Given the description of an element on the screen output the (x, y) to click on. 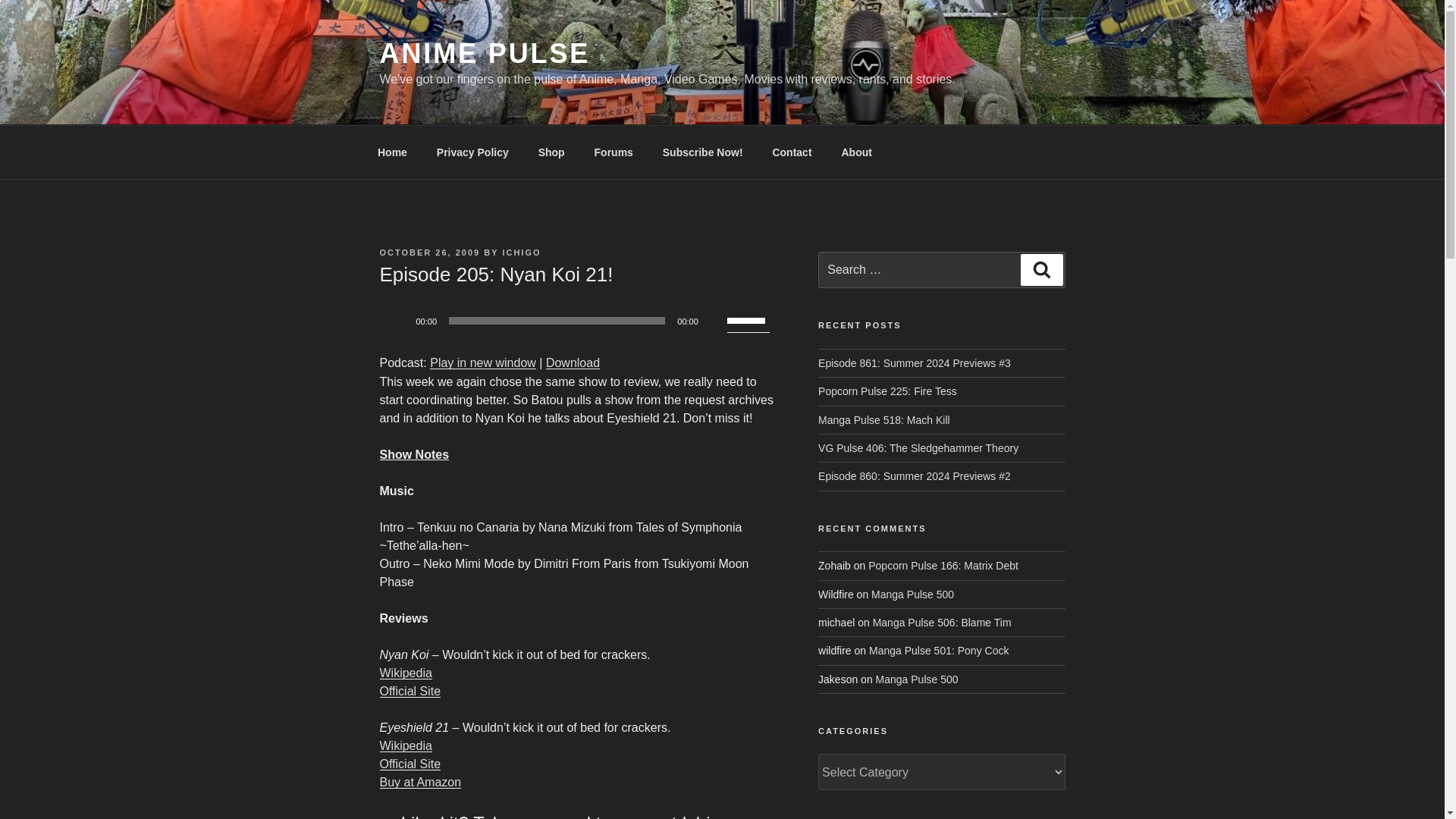
Wikipedia (404, 672)
Manga Pulse 518: Mach Kill (884, 419)
Official Site (409, 690)
Buy at Amazon (419, 781)
Privacy Policy (472, 151)
Search (1041, 269)
Wikipedia (404, 745)
Download (572, 362)
Play (398, 320)
Play in new window (482, 362)
